Given the description of an element on the screen output the (x, y) to click on. 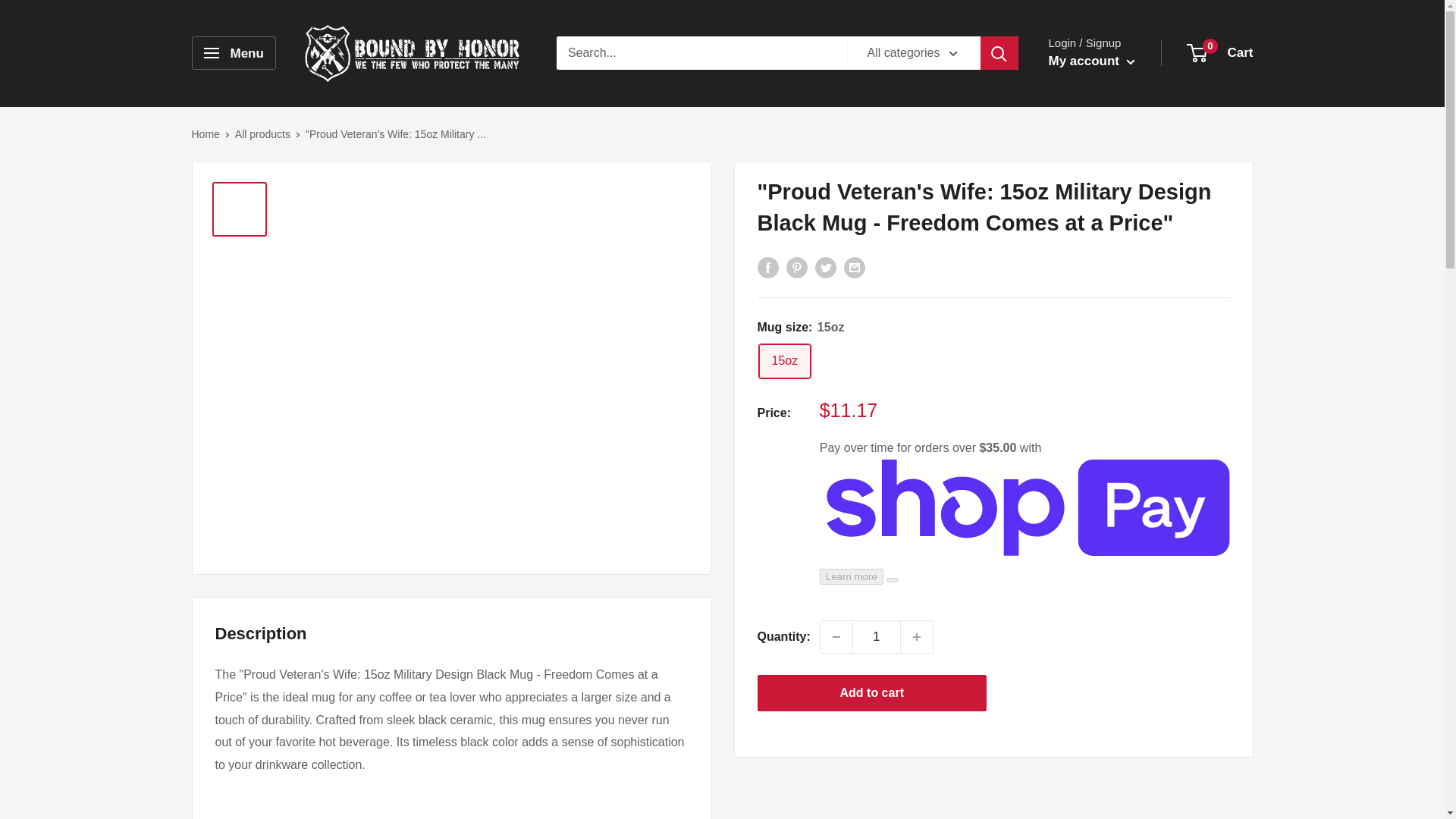
1 (876, 636)
Increase quantity by 1 (917, 636)
Decrease quantity by 1 (836, 636)
15oz (784, 360)
